Given the description of an element on the screen output the (x, y) to click on. 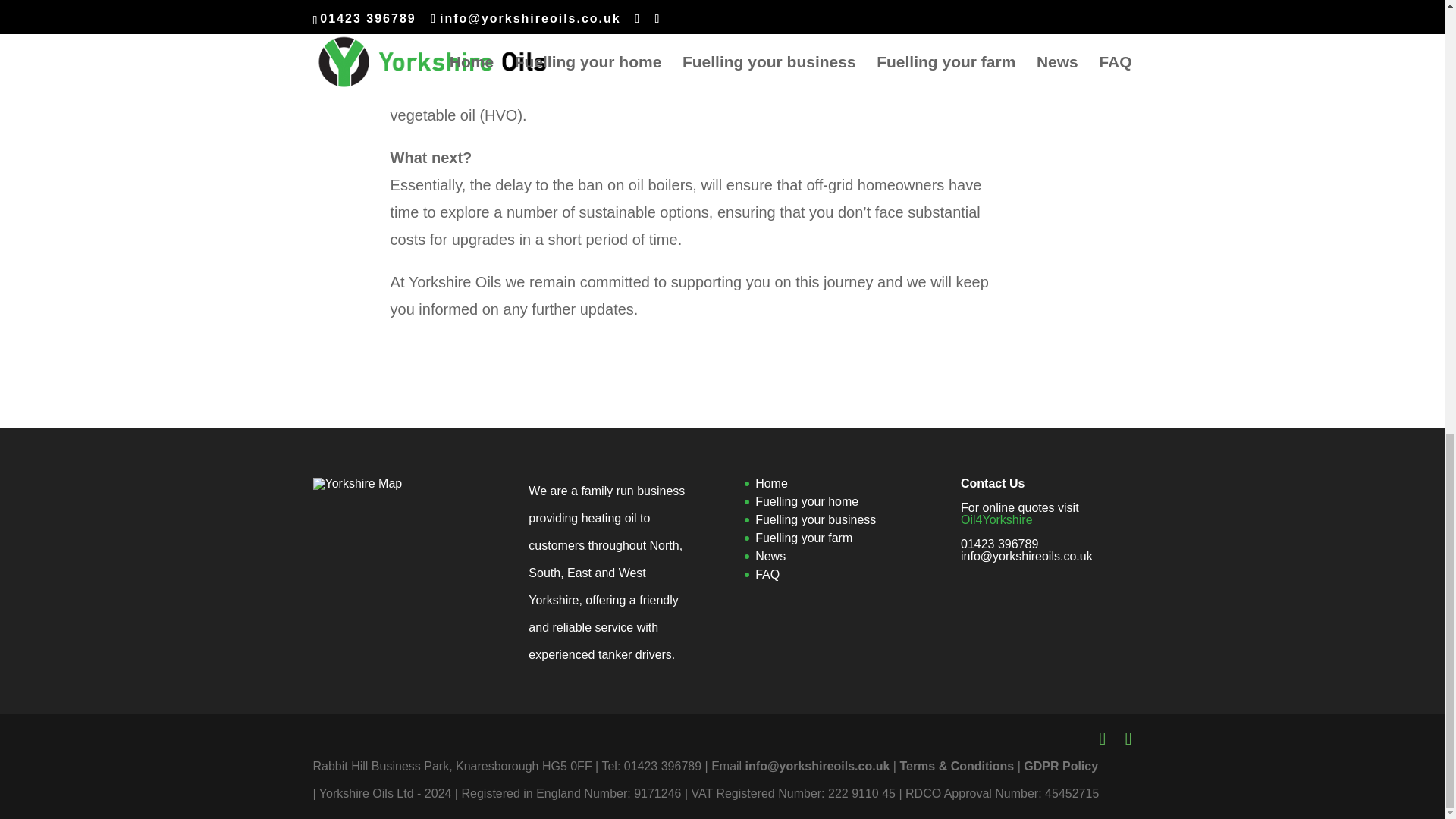
Fuelling your home (807, 501)
Oil4Yorkshire (996, 519)
News (770, 555)
Fuelling your farm (803, 537)
FAQ (766, 574)
Fuelling your business (815, 519)
Home (771, 482)
01423 396789 (999, 543)
GDPR Policy (1060, 766)
